Given the description of an element on the screen output the (x, y) to click on. 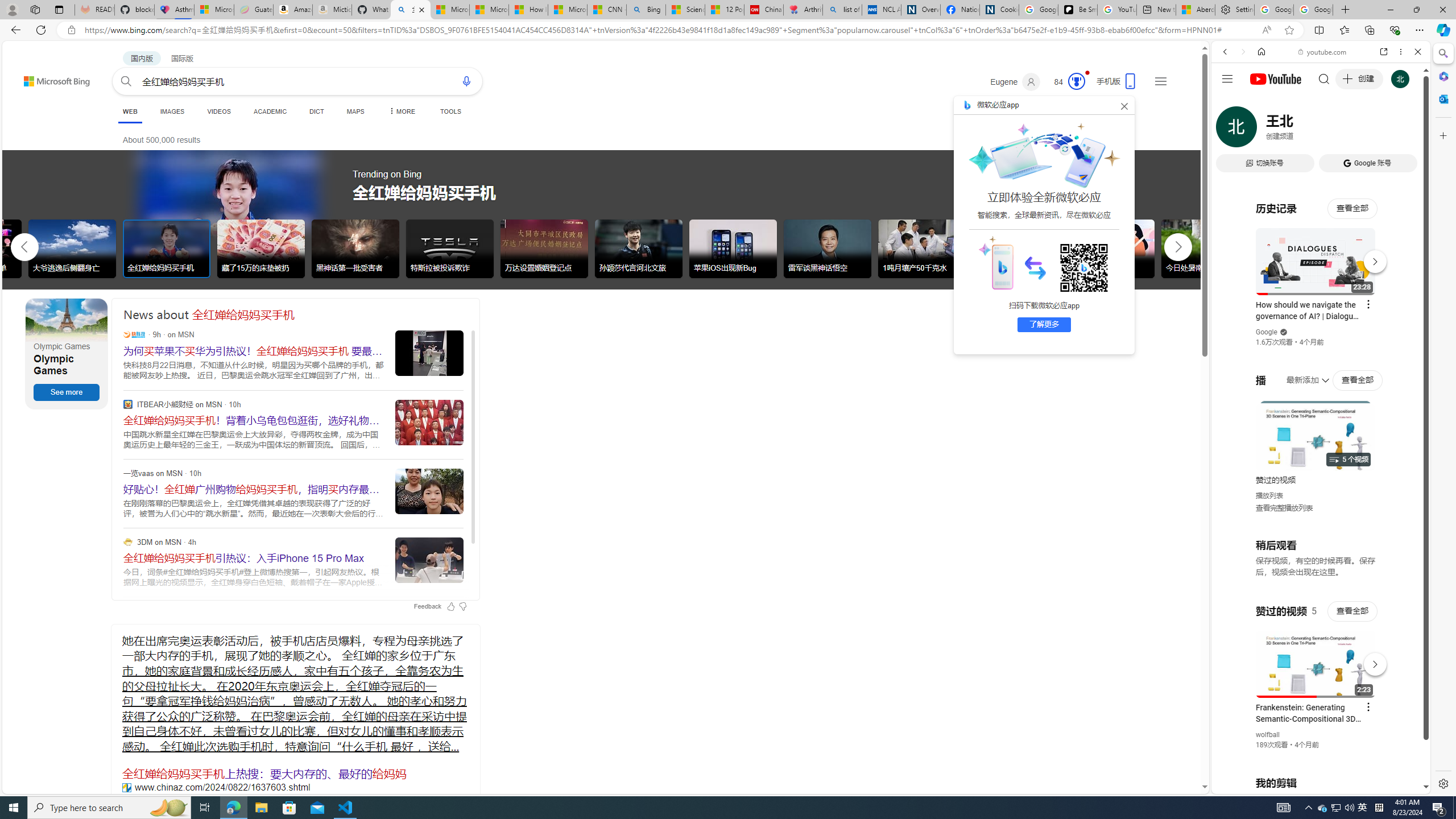
Bing (646, 9)
Animation (1086, 72)
How I Got Rid of Microsoft Edge's Unnecessary Features (528, 9)
Back (1225, 51)
Actions for this site (1371, 661)
New tab (1155, 9)
VIDEOS (218, 111)
Close Outlook pane (1442, 98)
Browser essentials (1394, 29)
